Given the description of an element on the screen output the (x, y) to click on. 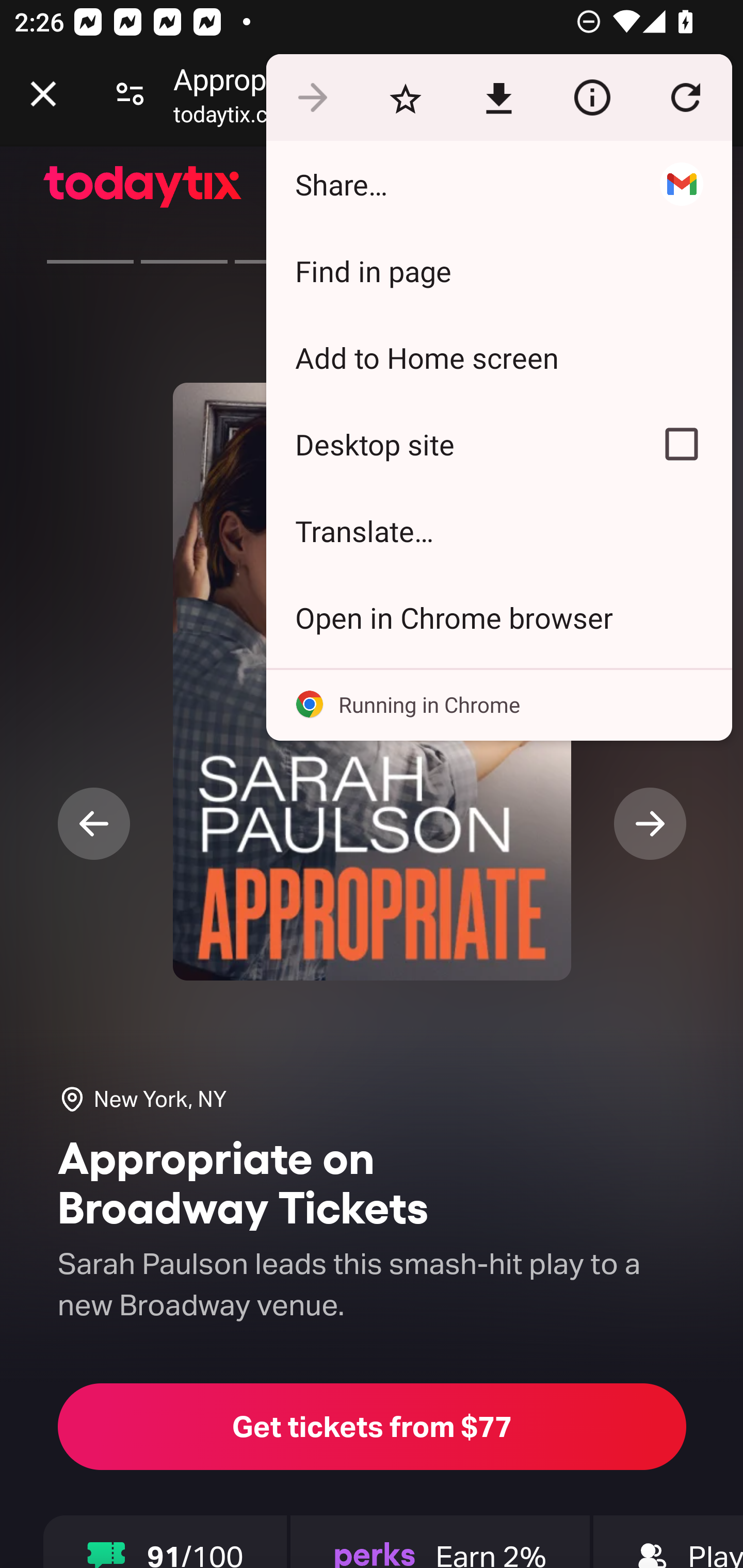
Go forward (311, 97)
Bookmark (404, 97)
Download this page (498, 97)
View site information (591, 97)
Refresh (684, 97)
Share… (447, 184)
Share via Gmail (680, 184)
Find in page (498, 270)
Add to Home screen (498, 357)
Desktop site Turn on Request desktop site (447, 444)
Translate… (498, 530)
Open in Chrome browser (498, 616)
